Given the description of an element on the screen output the (x, y) to click on. 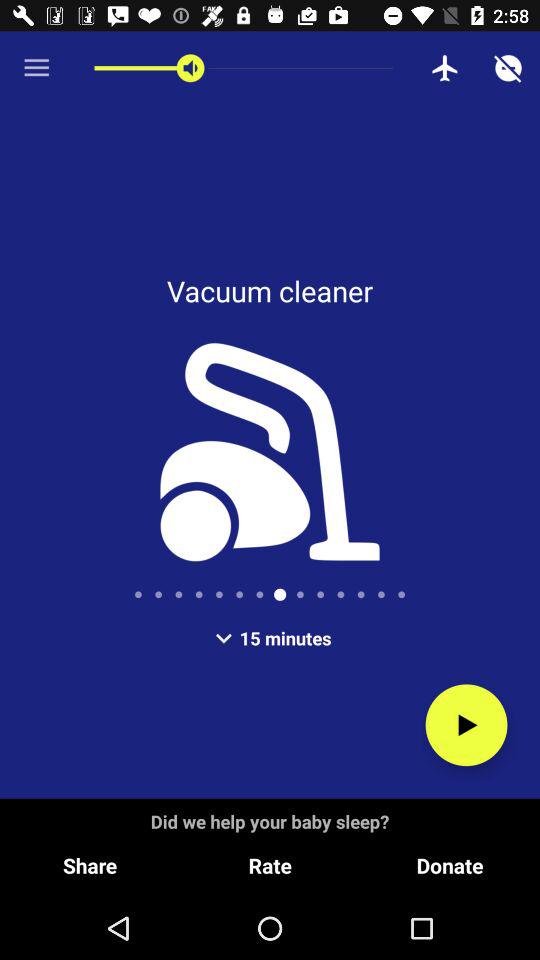
play vacuum cleaner (466, 725)
